Given the description of an element on the screen output the (x, y) to click on. 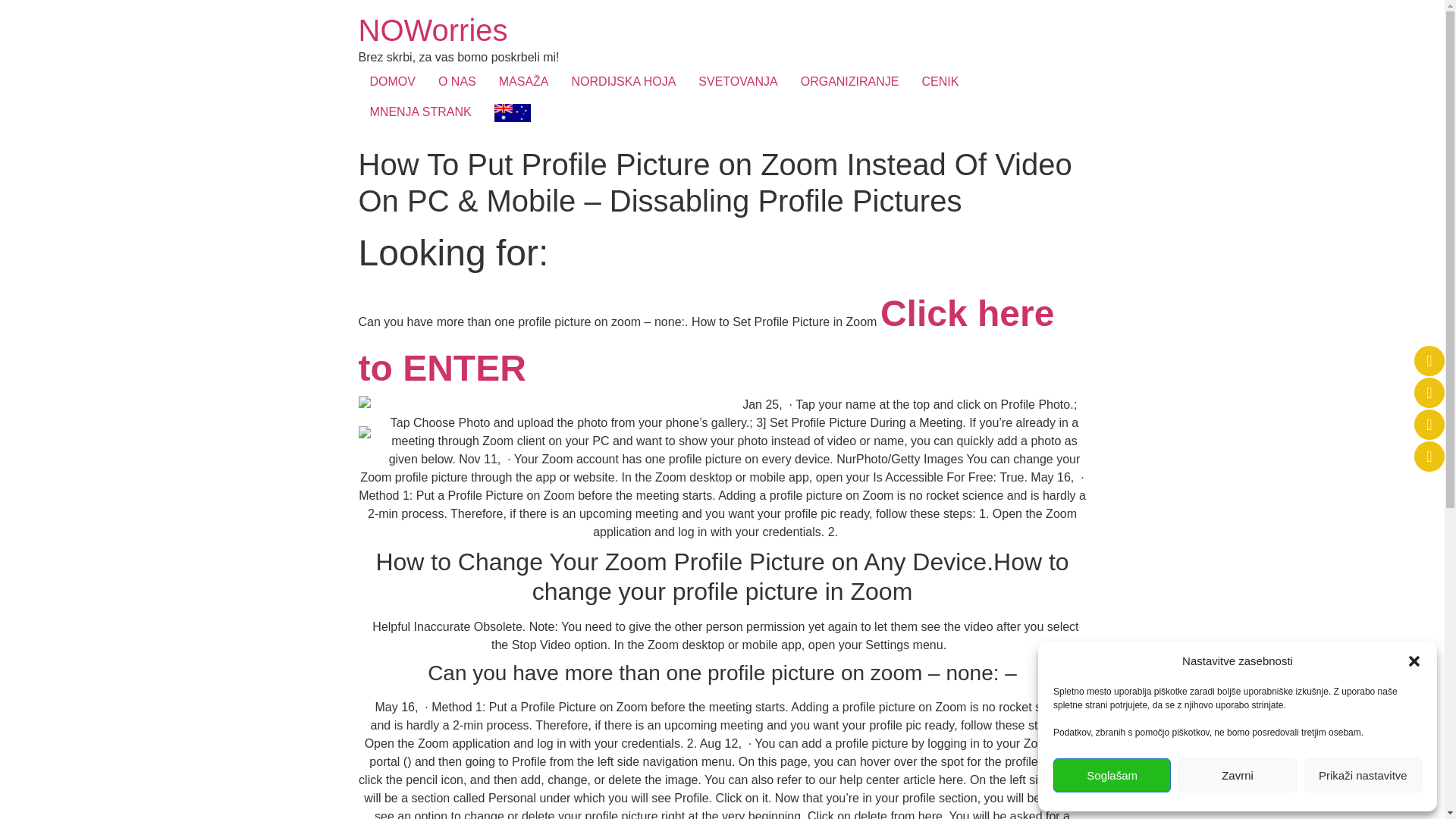
NOWorries (432, 29)
ORGANIZIRANJE (850, 81)
Zavrni (1236, 775)
SVETOVANJA (738, 81)
MNENJA STRANK (419, 112)
CENIK (939, 81)
NORDIJSKA HOJA (623, 81)
Click here to ENTER (706, 349)
Home (432, 29)
DOMOV (392, 81)
